Given the description of an element on the screen output the (x, y) to click on. 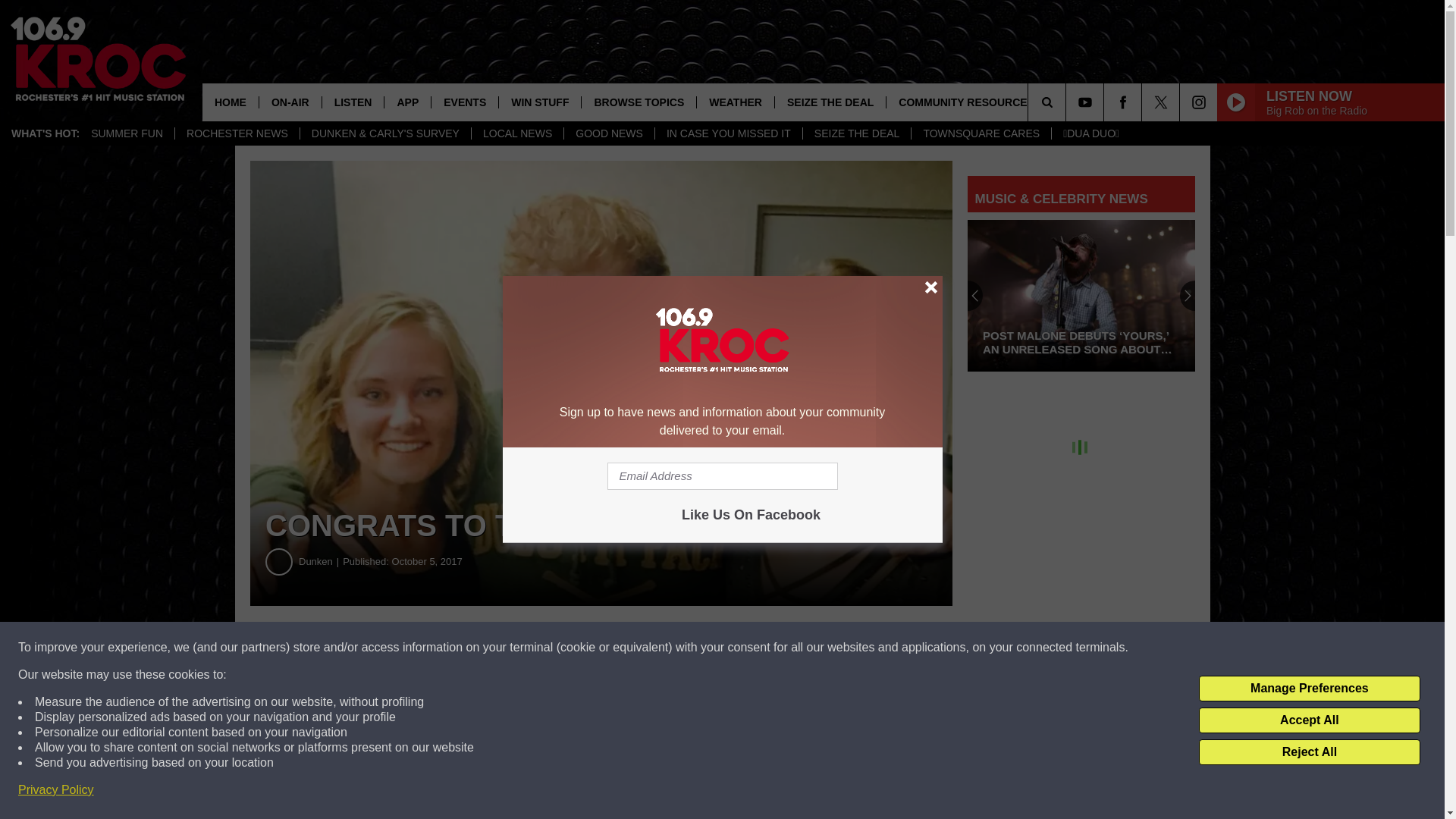
ON-AIR (290, 102)
SUMMER FUN (127, 133)
Reject All (1309, 751)
TOWNSQUARE CARES (981, 133)
LOCAL NEWS (516, 133)
SEIZE THE DEAL (856, 133)
SEARCH (1068, 102)
IN CASE YOU MISSED IT (727, 133)
GOOD NEWS (608, 133)
Share on Twitter (741, 647)
Privacy Policy (55, 789)
Email Address (722, 475)
HOME (230, 102)
Manage Preferences (1309, 688)
SEARCH (1068, 102)
